Given the description of an element on the screen output the (x, y) to click on. 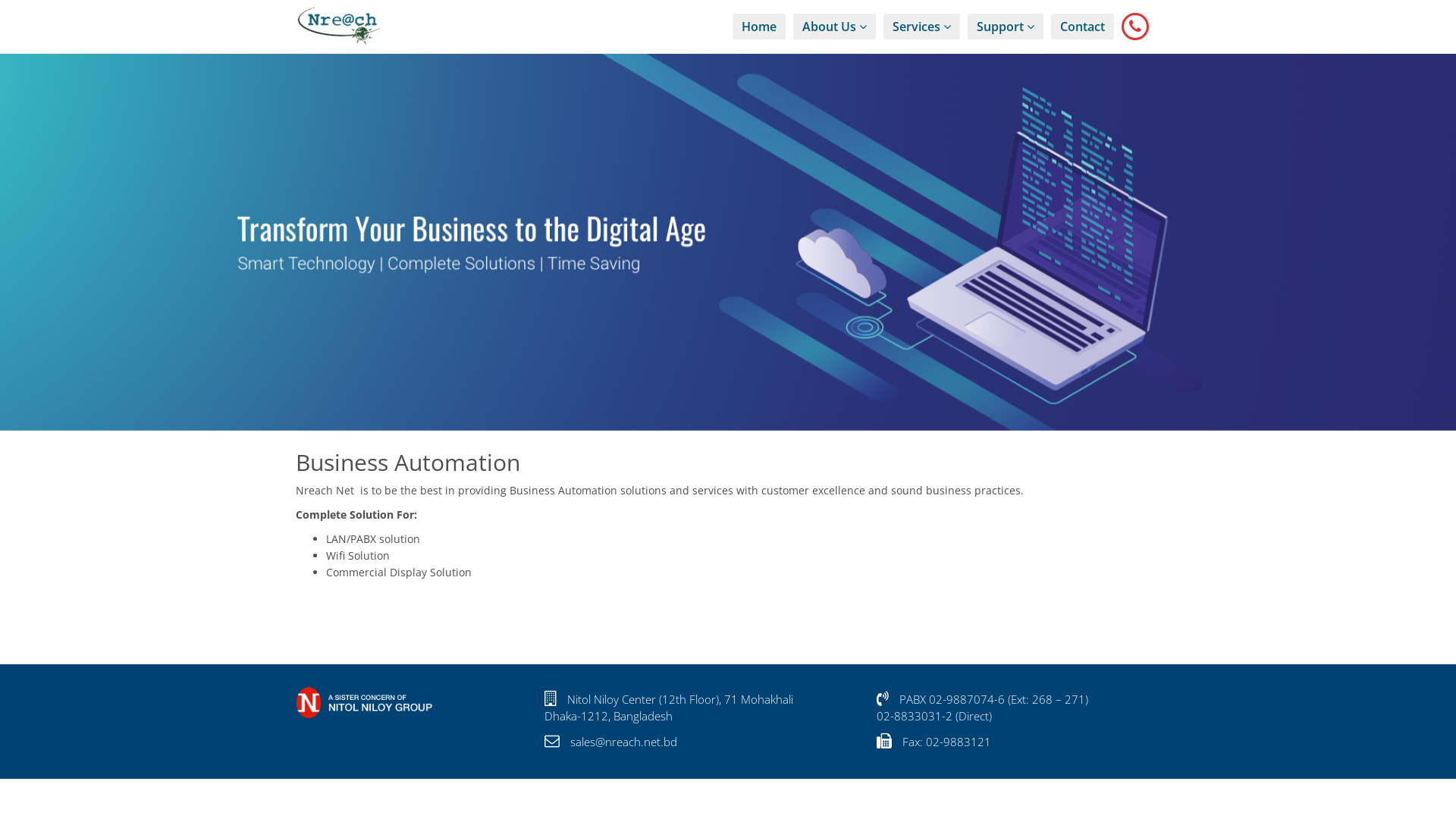
Contact Element type: text (1082, 26)
Home Element type: text (758, 26)
Support Element type: text (1005, 26)
About Us Element type: text (834, 26)
Services Element type: text (921, 26)
